Given the description of an element on the screen output the (x, y) to click on. 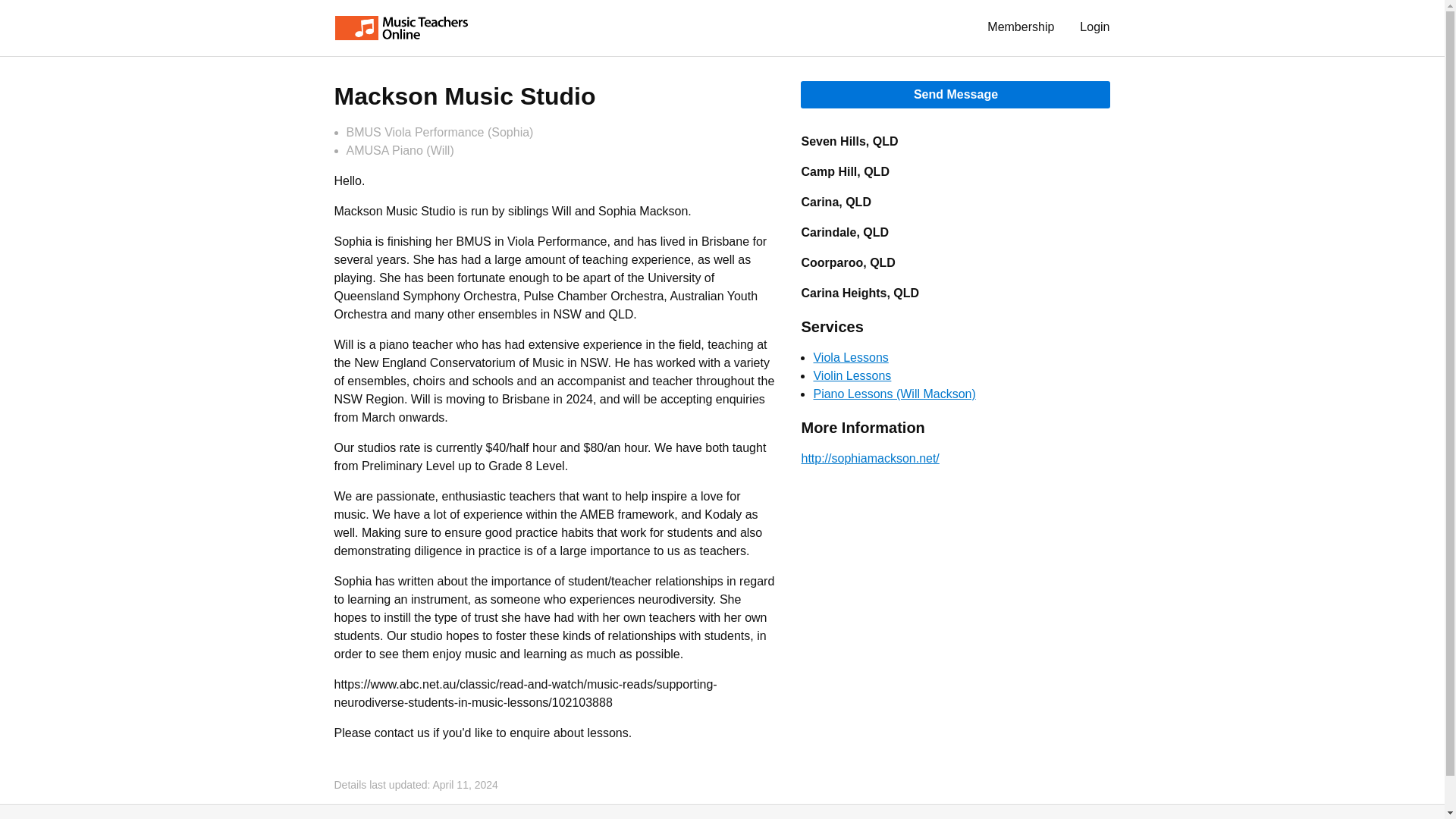
Violin Lessons (851, 375)
Viola Lessons (850, 357)
Send Message (954, 94)
Login (1094, 26)
Membership (1020, 26)
